Given the description of an element on the screen output the (x, y) to click on. 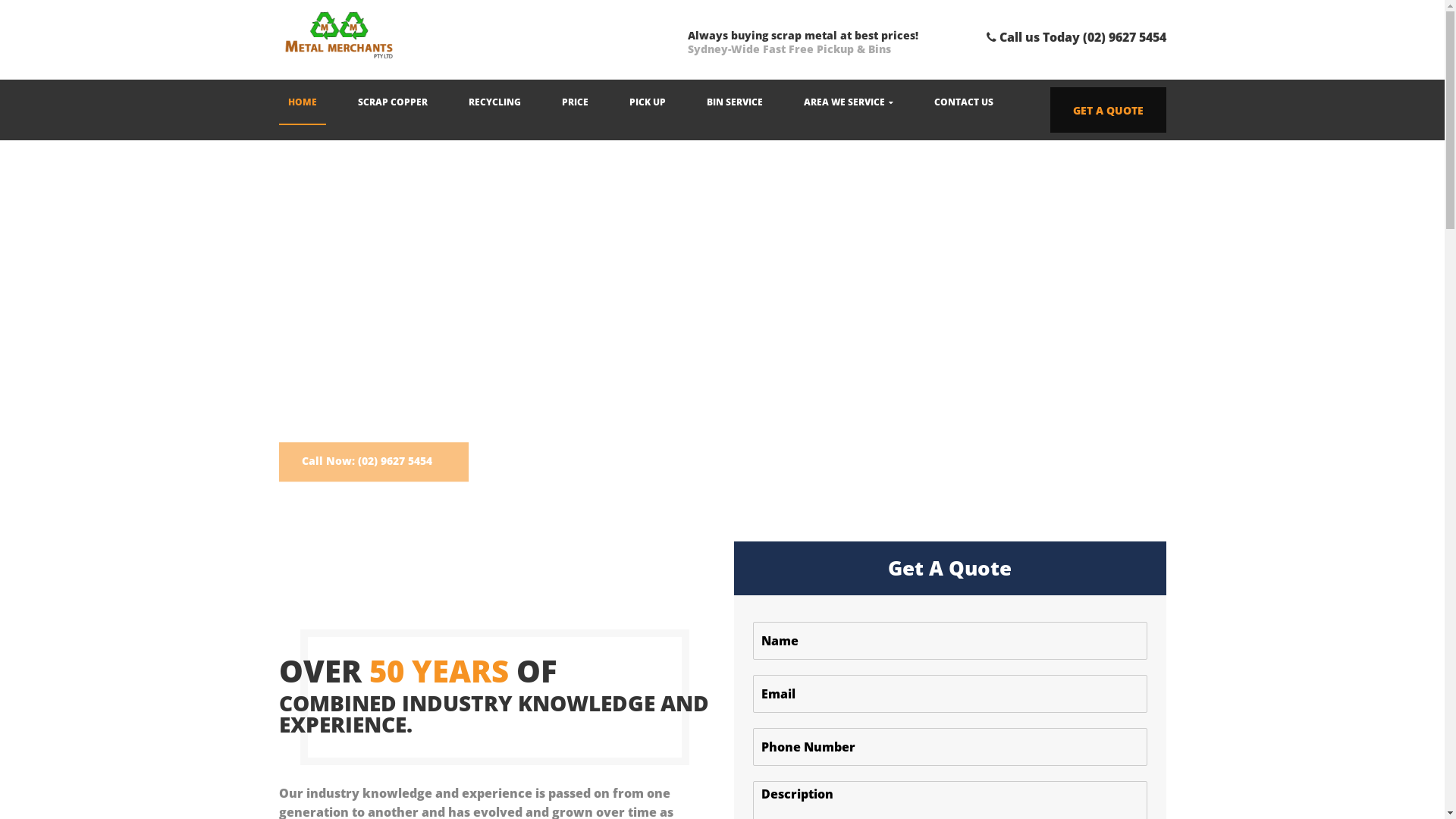
SCRAP COPPER Element type: text (392, 102)
RECYCLING Element type: text (494, 102)
BIN SERVICE Element type: text (734, 102)
PICK UP Element type: text (647, 102)
GET A QUOTE Element type: text (1107, 109)
HOME Element type: text (302, 102)
AREA WE SERVICE Element type: text (848, 102)
Call Now: (02) 9627 5454 Element type: text (373, 479)
PRICE Element type: text (574, 102)
CONTACT US Element type: text (963, 102)
Call us Today (02) 9627 5454 Element type: text (1075, 36)
